Given the description of an element on the screen output the (x, y) to click on. 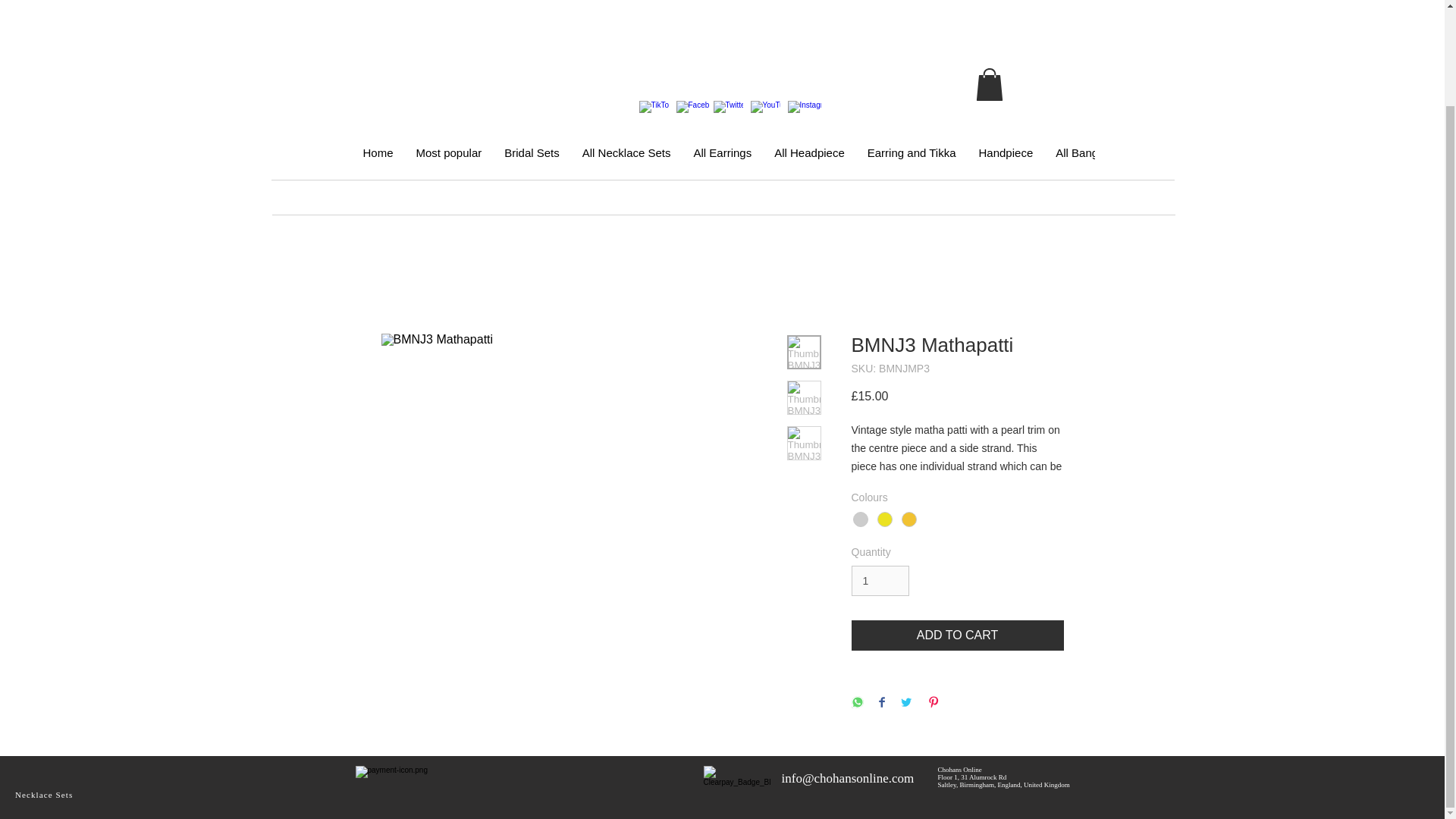
All Earrings (722, 160)
Home (378, 160)
All Necklace Sets (626, 160)
All Headpiece (809, 160)
Handpiece (1006, 160)
All Bangles (1083, 160)
Bridal Sets (531, 160)
Earring and Tikka (912, 160)
Most popular (448, 160)
1 (879, 581)
